Given the description of an element on the screen output the (x, y) to click on. 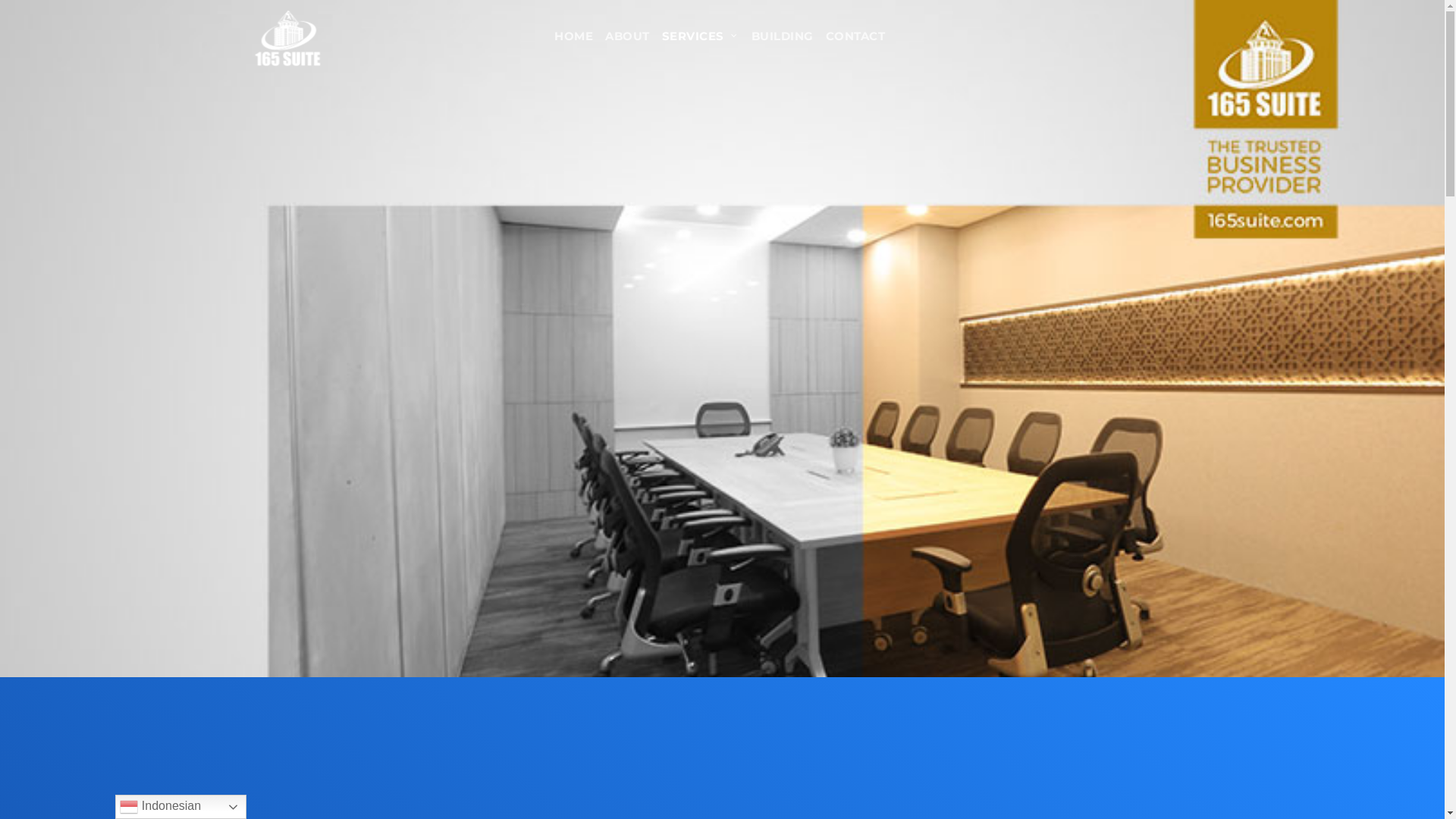
HOME Element type: text (573, 36)
ABOUT Element type: text (627, 36)
CONTACT Element type: text (855, 36)
SERVICES Element type: text (700, 36)
BUILDING Element type: text (782, 36)
